Given the description of an element on the screen output the (x, y) to click on. 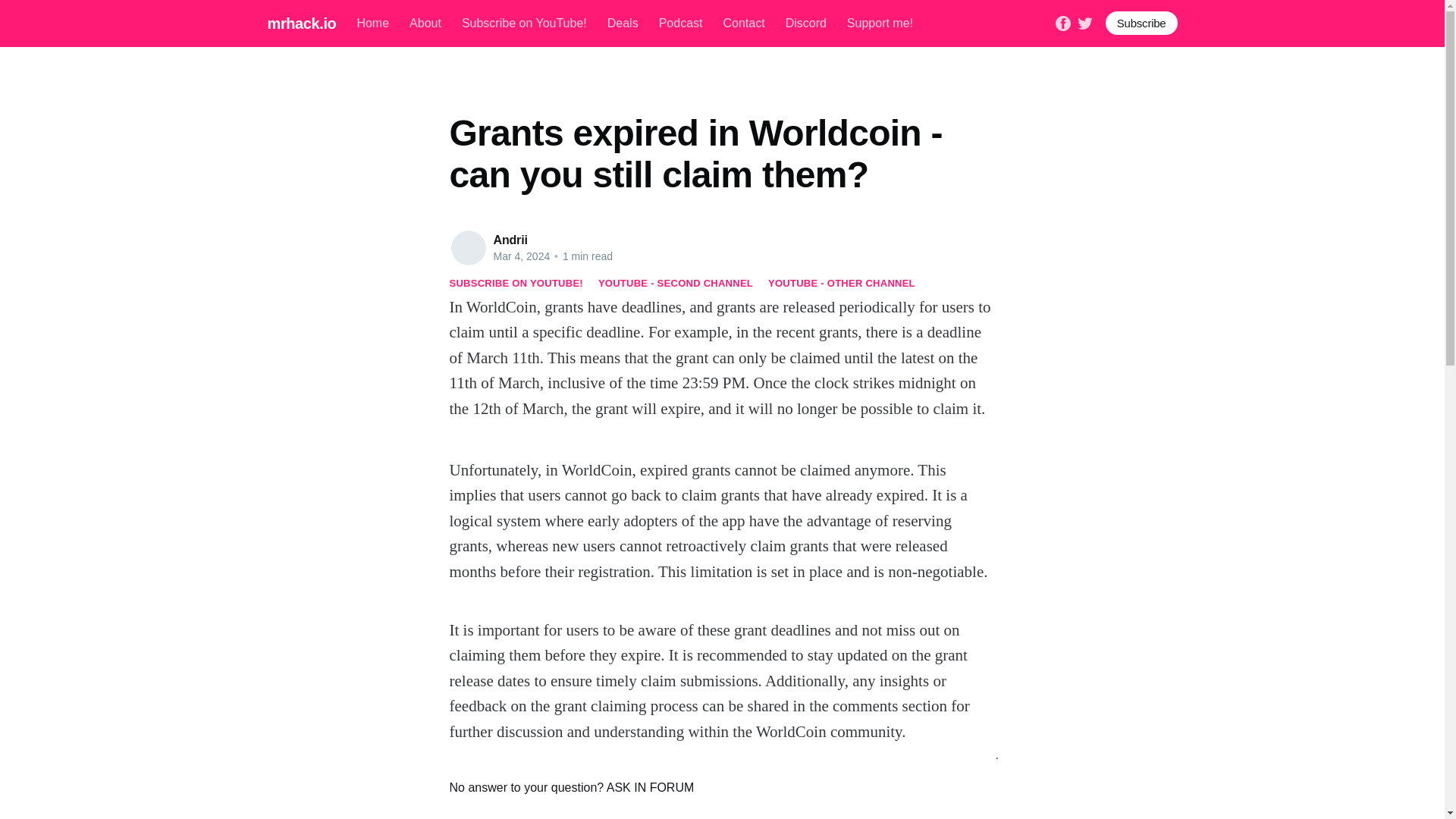
About (425, 22)
Support me! (879, 22)
No answer to your question? ASK IN FORUM (721, 787)
Contact (743, 22)
Discord (806, 22)
YOUTUBE - SECOND CHANNEL (675, 283)
Facebook (1062, 21)
Home (372, 22)
Podcast (681, 22)
Deals (623, 22)
Andrii (510, 239)
SUBSCRIBE ON YOUTUBE! (515, 283)
YOUTUBE - OTHER CHANNEL (841, 283)
Subscribe (1141, 23)
Twitter (1085, 21)
